Given the description of an element on the screen output the (x, y) to click on. 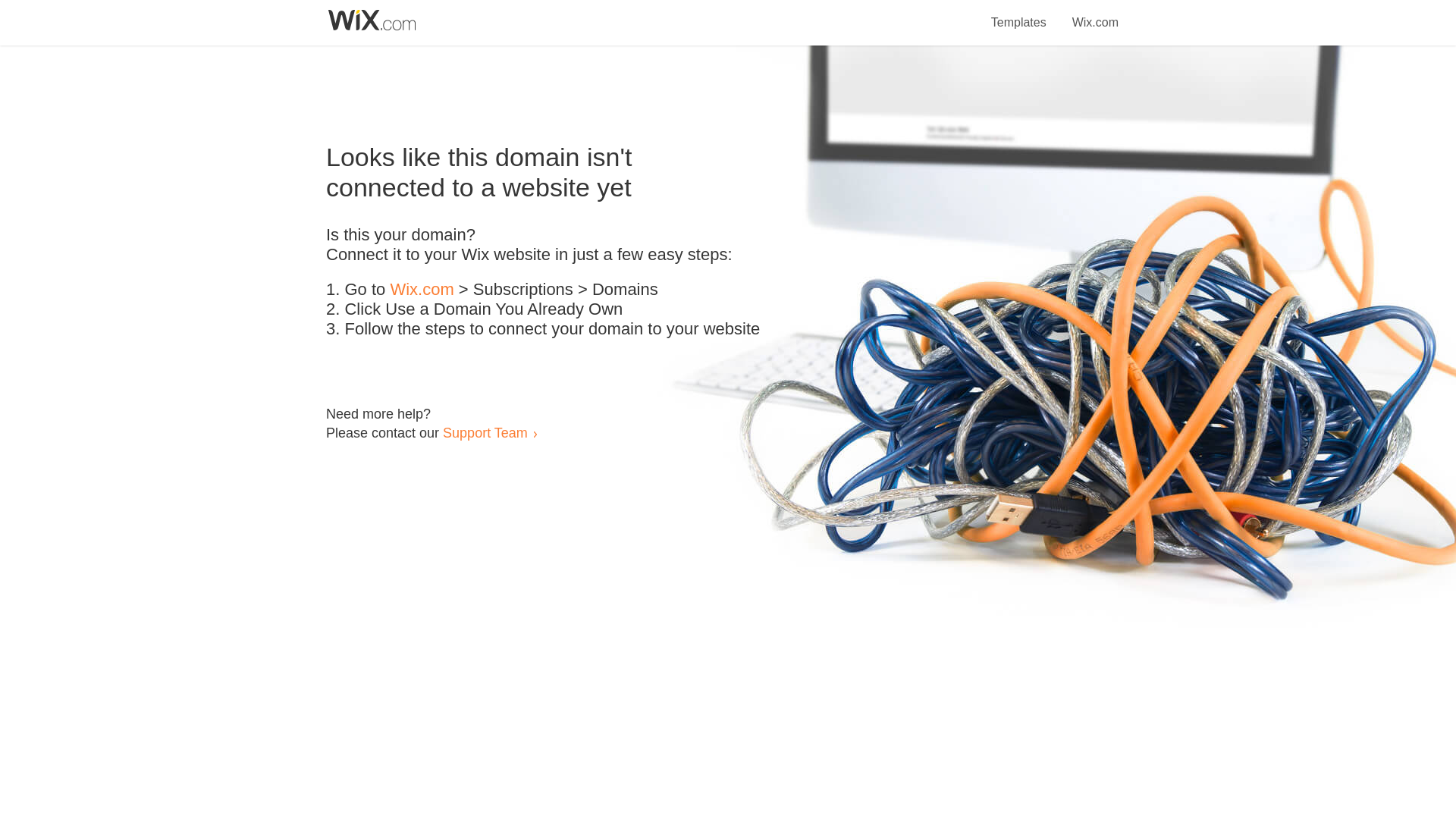
Wix.com (421, 289)
Wix.com (1095, 14)
Support Team (484, 432)
Templates (1018, 14)
